Given the description of an element on the screen output the (x, y) to click on. 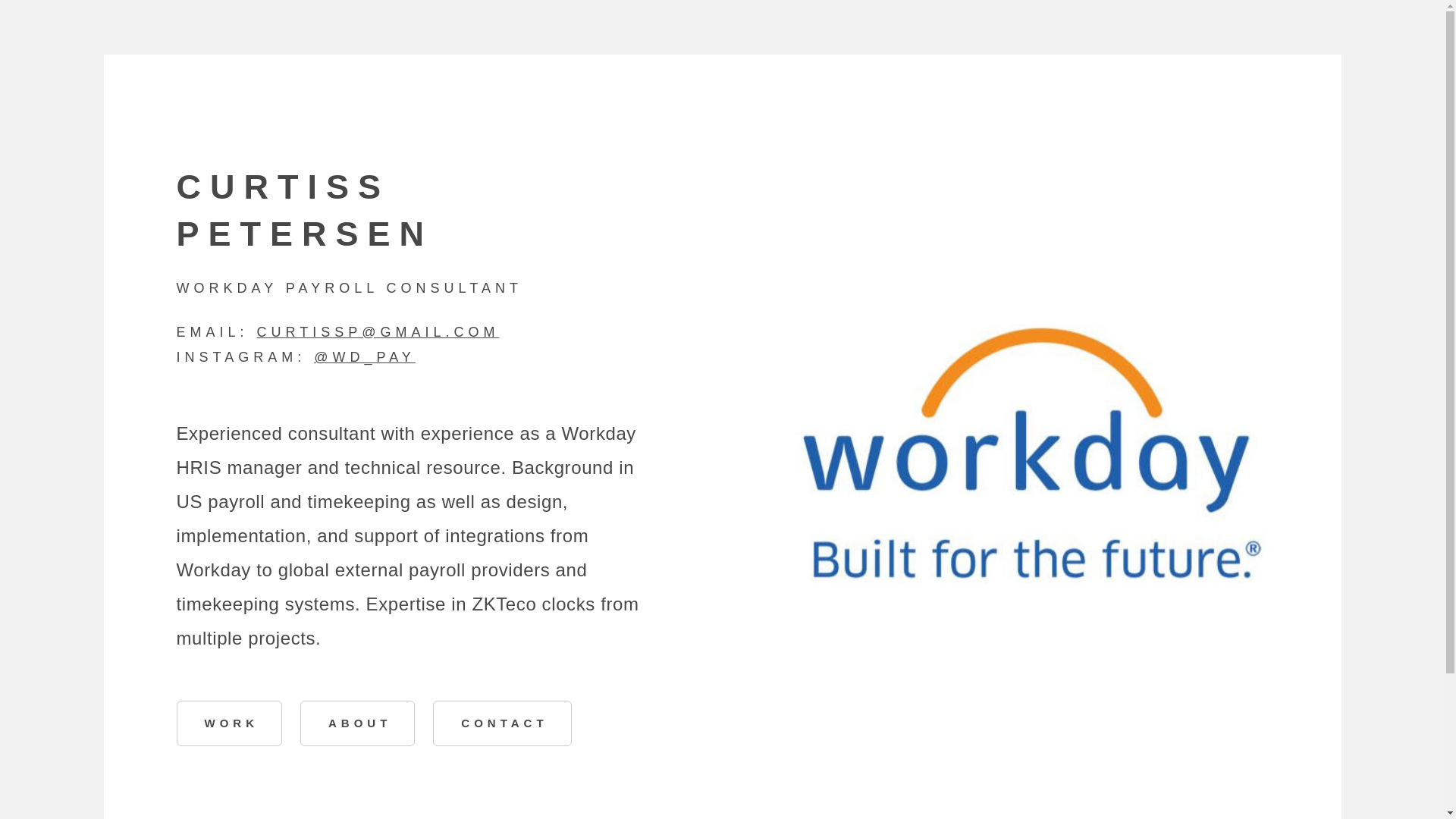
CONTACT (501, 723)
WORK (229, 723)
ABOUT (356, 723)
